Given the description of an element on the screen output the (x, y) to click on. 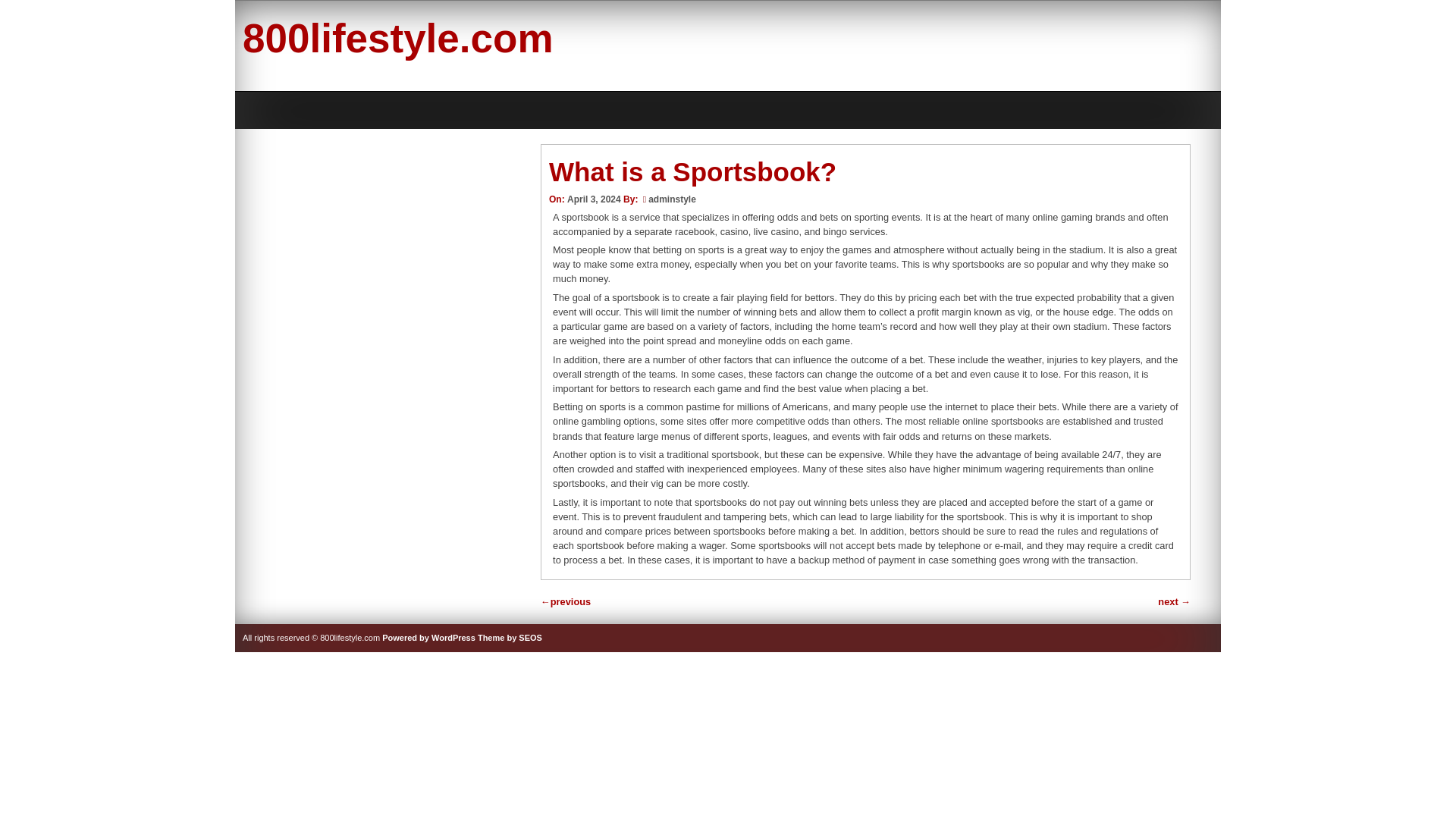
800lifestyle.com (398, 37)
April 3, 2024 (594, 199)
Theme by SEOS (509, 637)
Powered by WordPress (428, 637)
adminstyle (671, 199)
Seos free wordpress themes (509, 637)
